Given the description of an element on the screen output the (x, y) to click on. 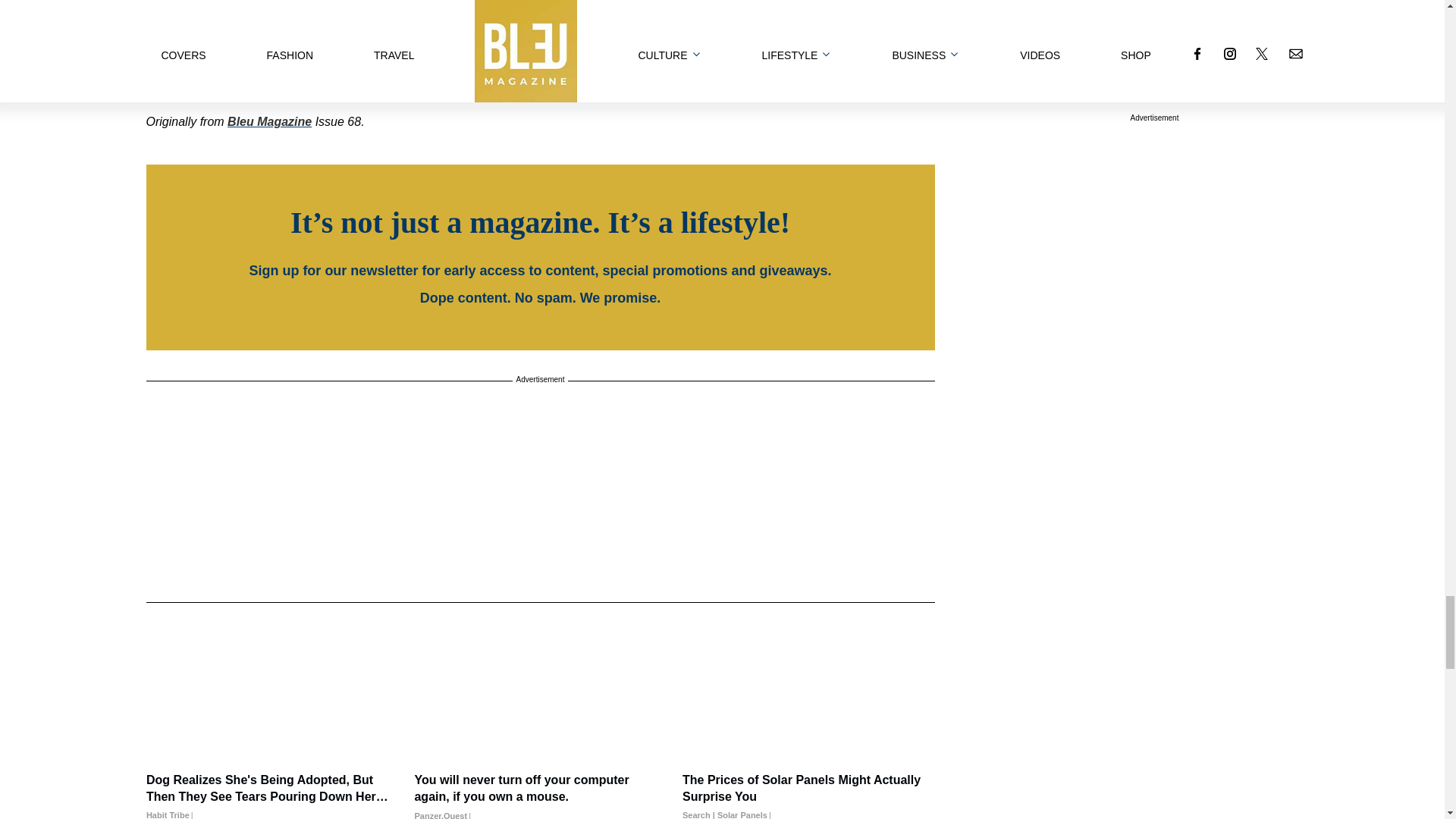
The Prices of Solar Panels Might Actually Surprise You (808, 795)
